Given the description of an element on the screen output the (x, y) to click on. 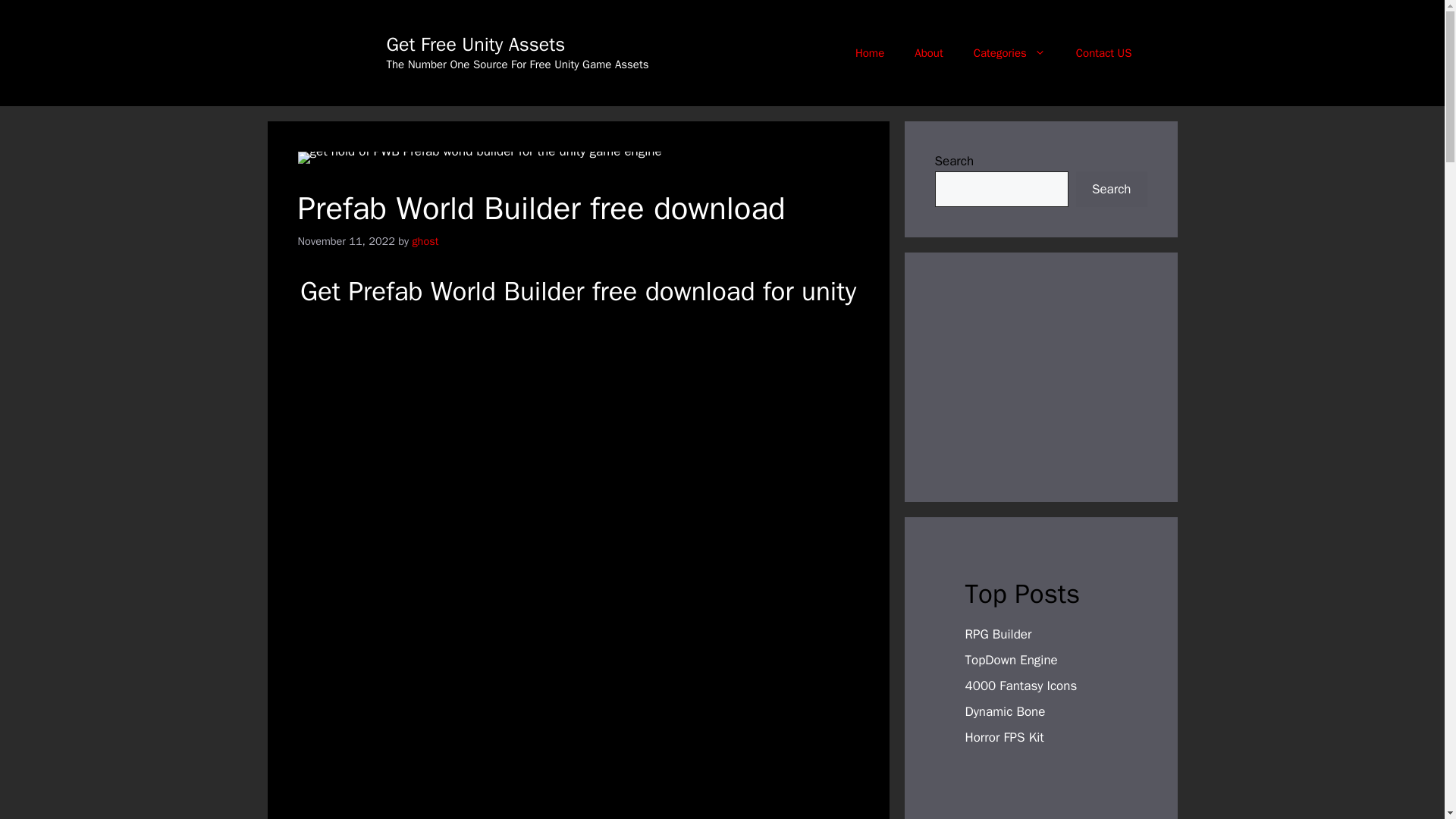
About (928, 53)
Horror FPS Kit (1003, 737)
TopDown Engine (1010, 659)
Categories (1009, 53)
4000 Fantasy Icons (1020, 685)
ghost (425, 241)
Contact US (1104, 53)
Dynamic Bone (1004, 711)
Search (1111, 189)
Home (869, 53)
